Given the description of an element on the screen output the (x, y) to click on. 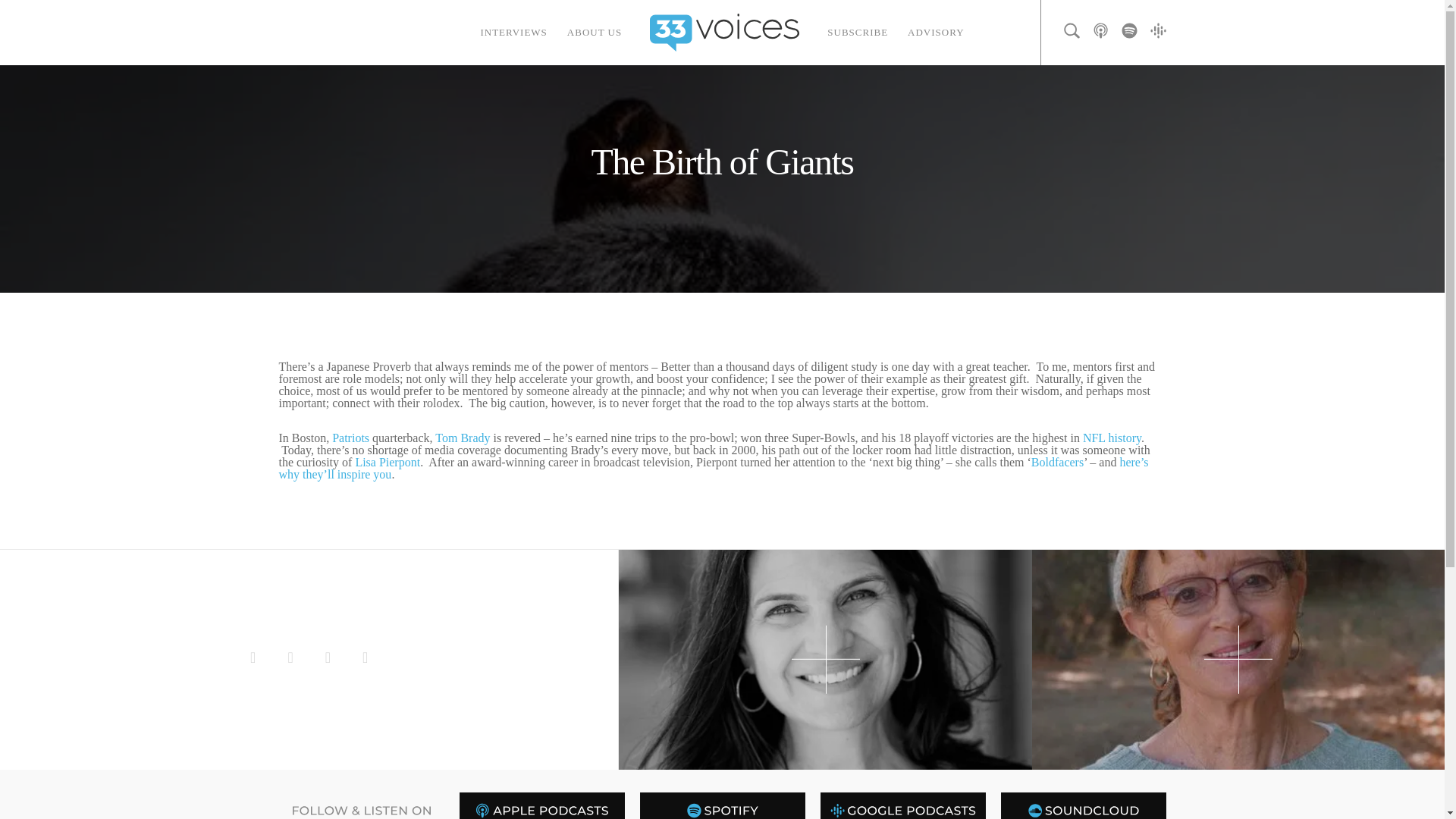
Listen on Apple Podcasts (542, 805)
Tom Brady (462, 437)
Listen on Spotify (722, 805)
Boldfacers (1056, 461)
ABOUT US (594, 32)
Listen on Google Podcasts (903, 805)
Patriots (350, 437)
ADVISORY (936, 32)
Lisa Pierpont (387, 461)
INTERVIEWS (513, 32)
